Given the description of an element on the screen output the (x, y) to click on. 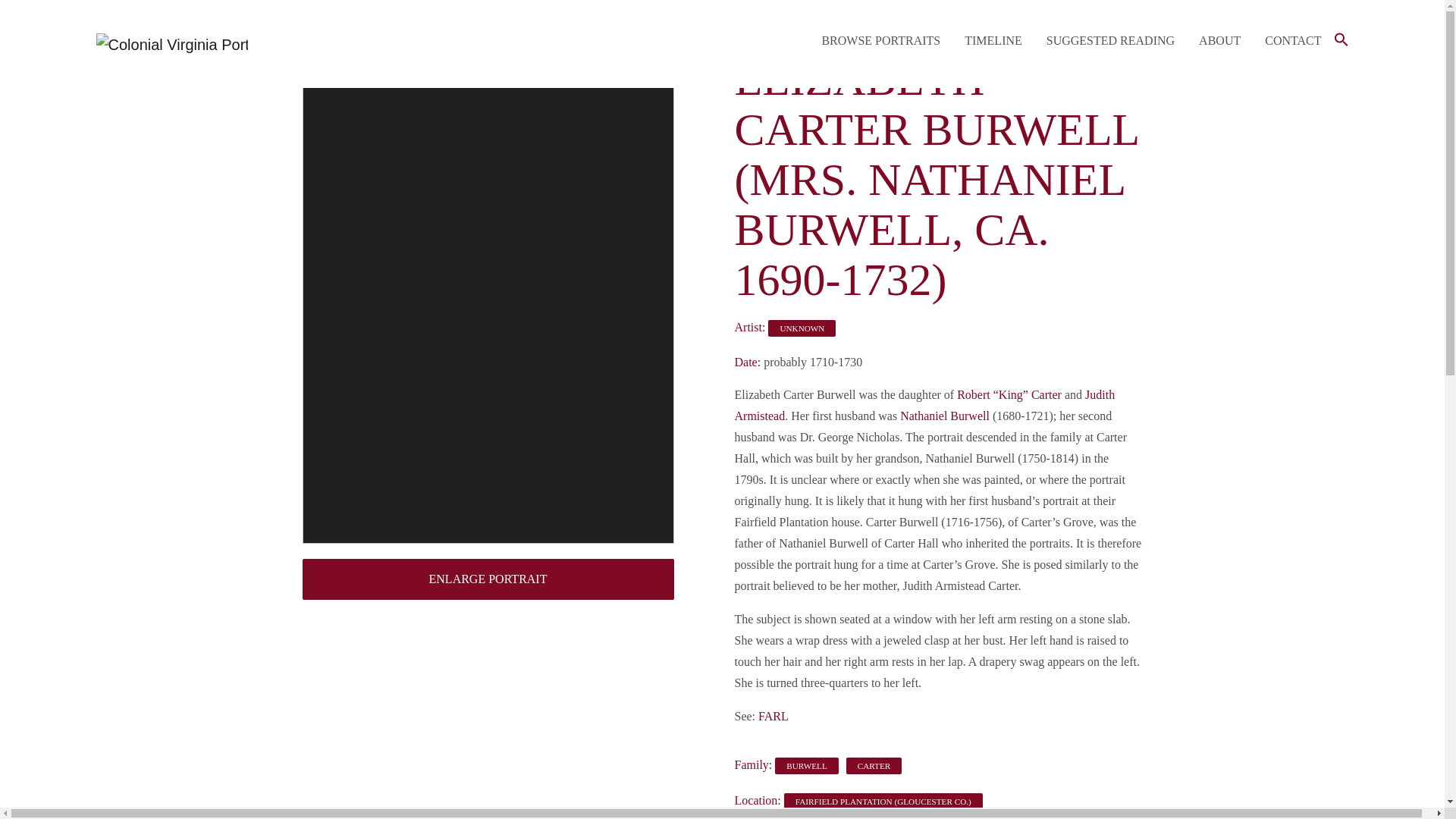
Suggested Reading (1110, 43)
Contact (1292, 43)
SUGGESTED READING (1110, 43)
Judith Armistead (924, 405)
CARTER (873, 765)
ENLARGE PORTRAIT (486, 578)
BURWELL (806, 765)
Nathaniel Burwell (944, 415)
CONTACT (1292, 43)
ABOUT (1219, 43)
FARL (773, 716)
TIMELINE (992, 43)
UNKNOWN (801, 328)
About (1219, 43)
BROWSE PORTRAITS (880, 43)
